Given the description of an element on the screen output the (x, y) to click on. 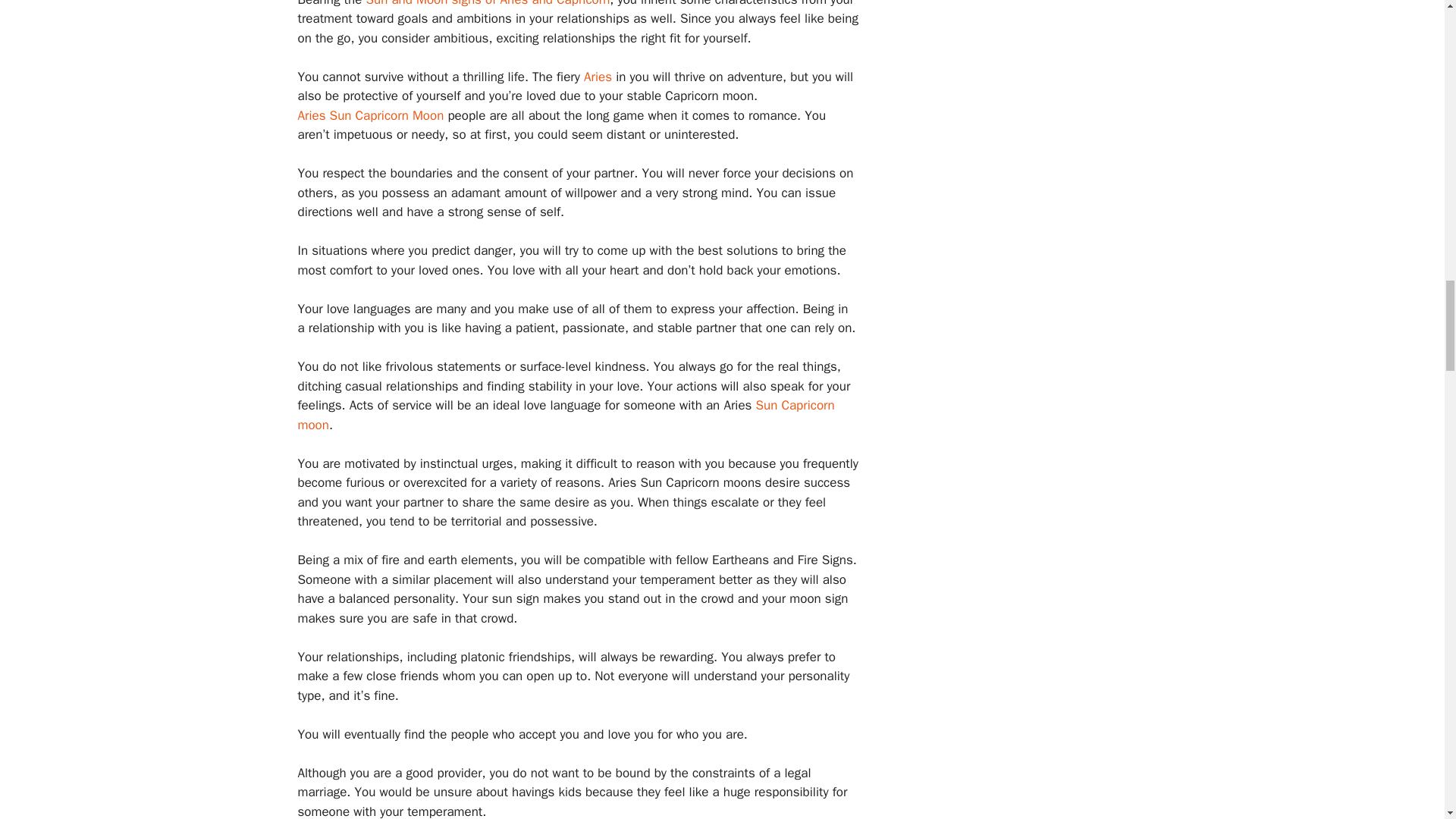
Aries Sun Capricorn Moon (370, 115)
Sun Capricorn moon (565, 415)
Sun and Moon signs of Aries and Capricorn (487, 3)
Aries (597, 76)
